Given the description of an element on the screen output the (x, y) to click on. 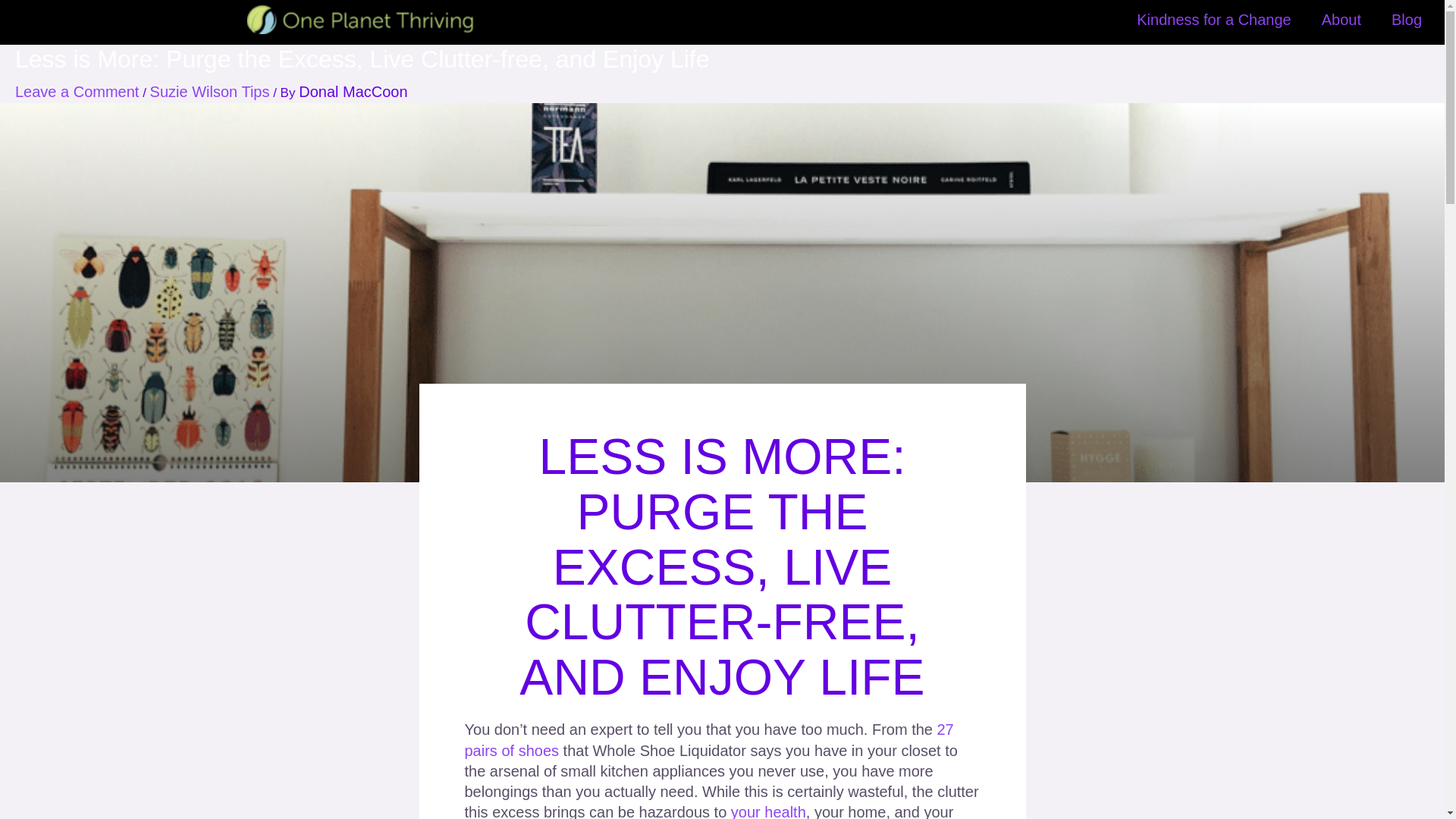
View all posts by Donal MacCoon (352, 91)
Donal MacCoon (352, 91)
About (1340, 19)
Kindness for a Change (1213, 19)
your health (768, 811)
27 pairs of shoes (708, 739)
Suzie Wilson Tips (209, 91)
Blog (1406, 19)
Leave a Comment (76, 91)
